Given the description of an element on the screen output the (x, y) to click on. 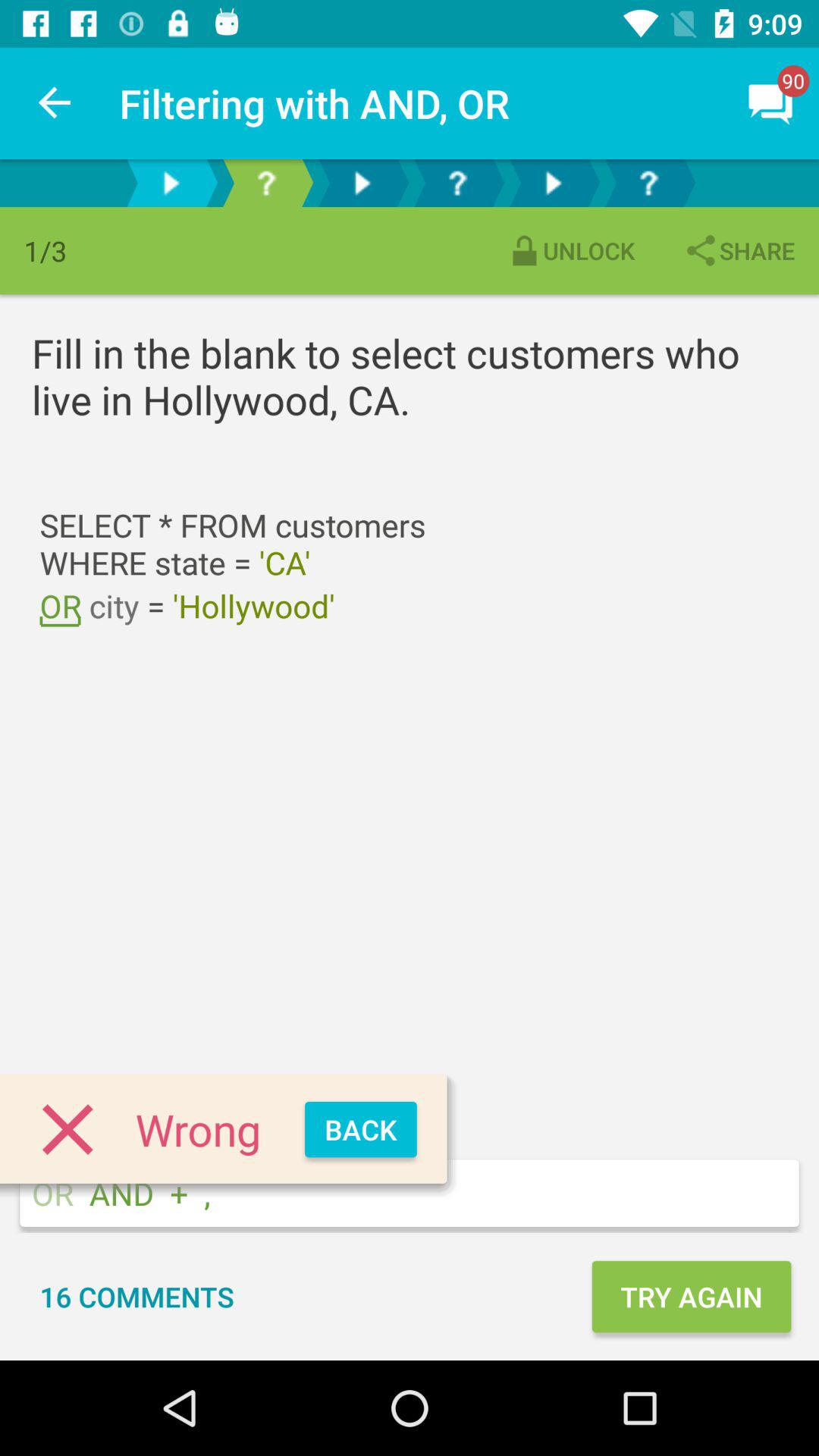
turn off item to the right of the unlock icon (738, 250)
